Given the description of an element on the screen output the (x, y) to click on. 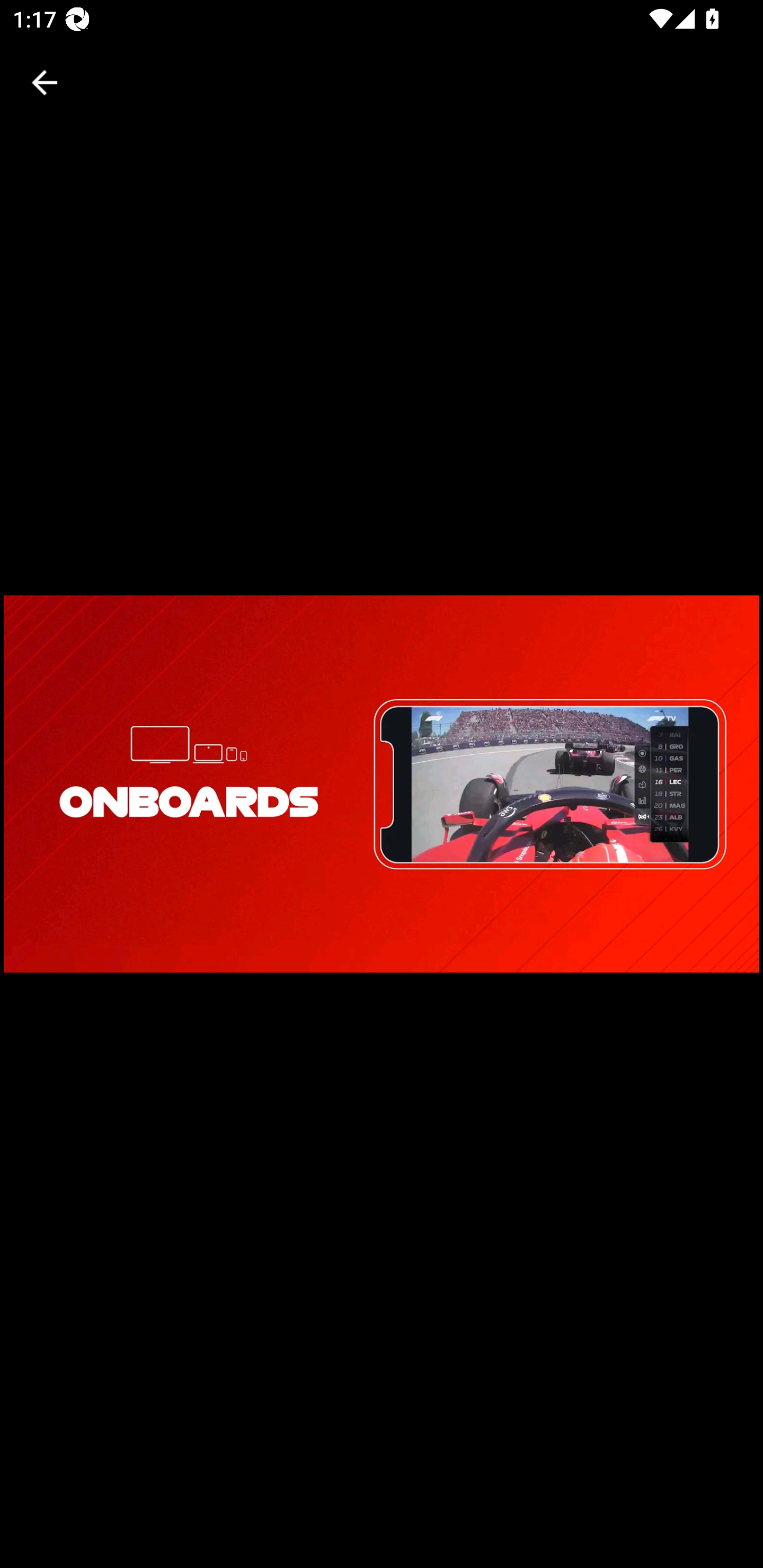
Back (44, 82)
